Given the description of an element on the screen output the (x, y) to click on. 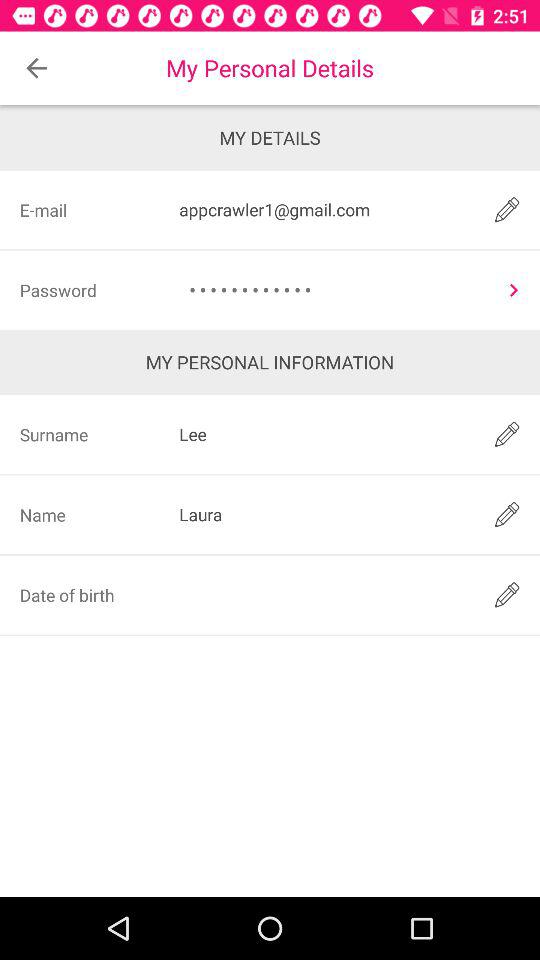
edit name field (506, 514)
